Given the description of an element on the screen output the (x, y) to click on. 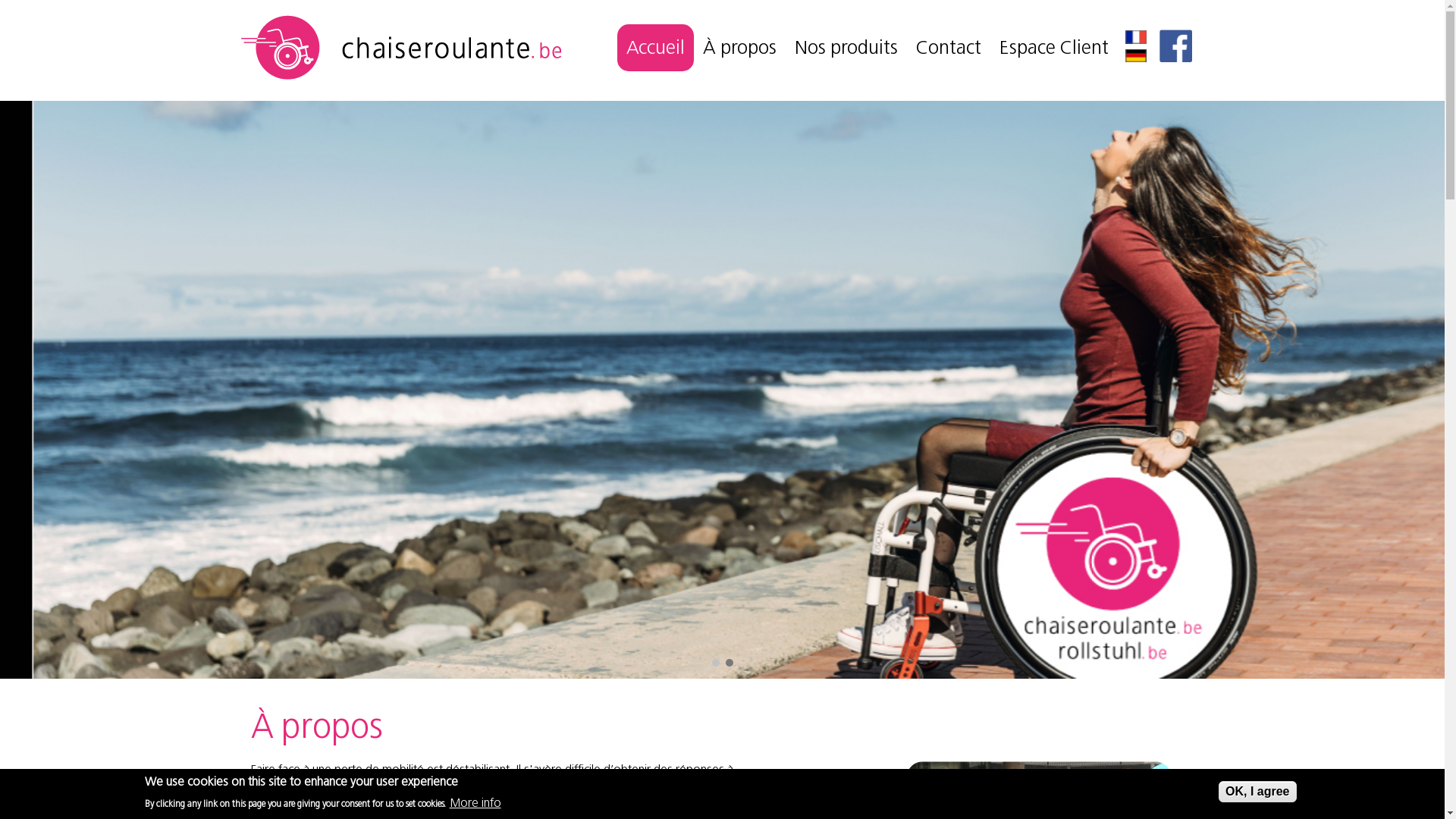
Nos produits Element type: text (845, 46)
OK, I agree Element type: text (1256, 791)
More info Element type: text (474, 802)
Accueil Element type: text (655, 46)
Jump to navigation Element type: text (722, 2)
Accueil Element type: hover (399, 76)
Contact Element type: text (948, 46)
Espace Client Element type: text (1053, 46)
